Given the description of an element on the screen output the (x, y) to click on. 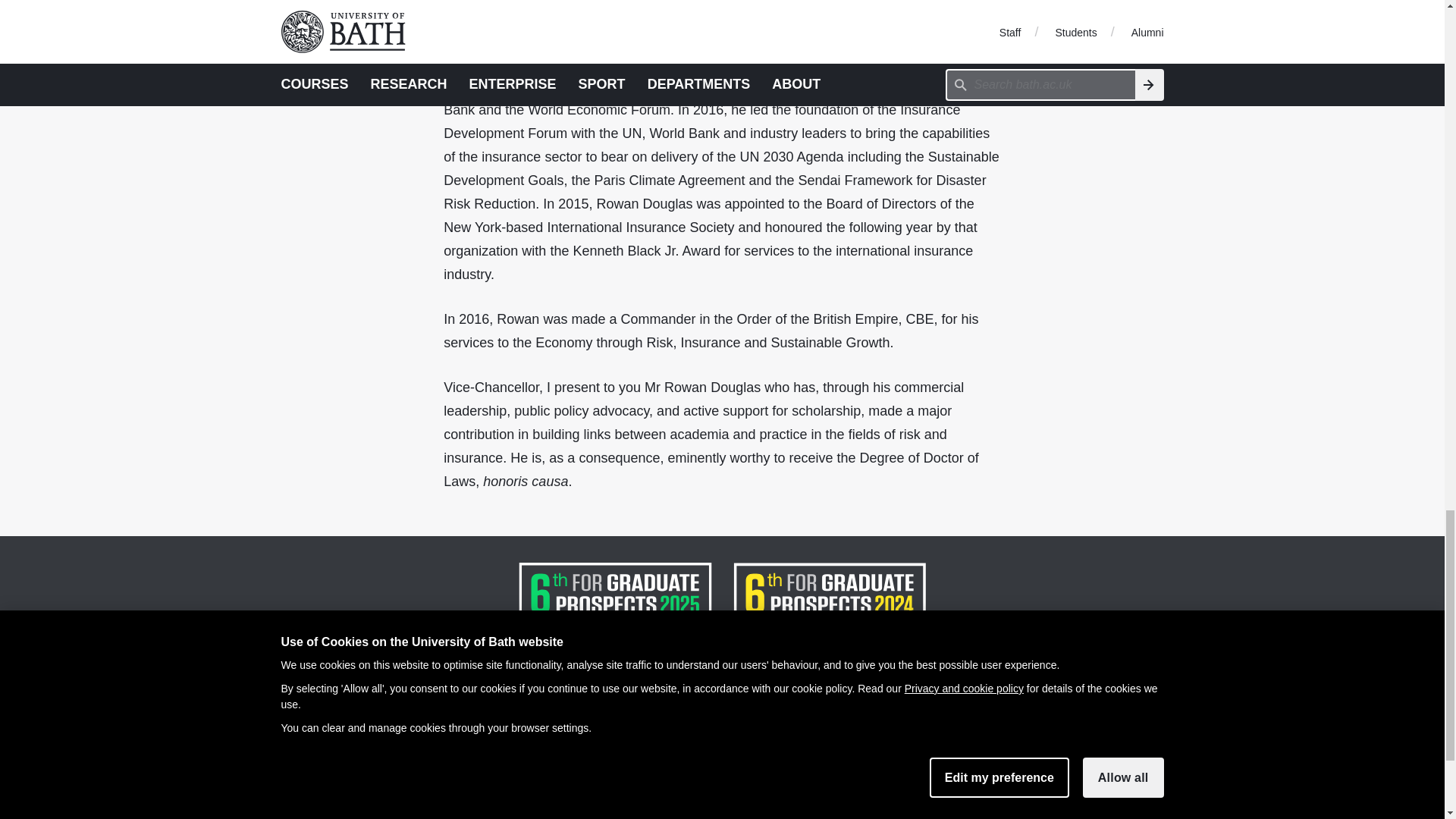
Freedom of information (351, 816)
Disclaimer (312, 798)
